Given the description of an element on the screen output the (x, y) to click on. 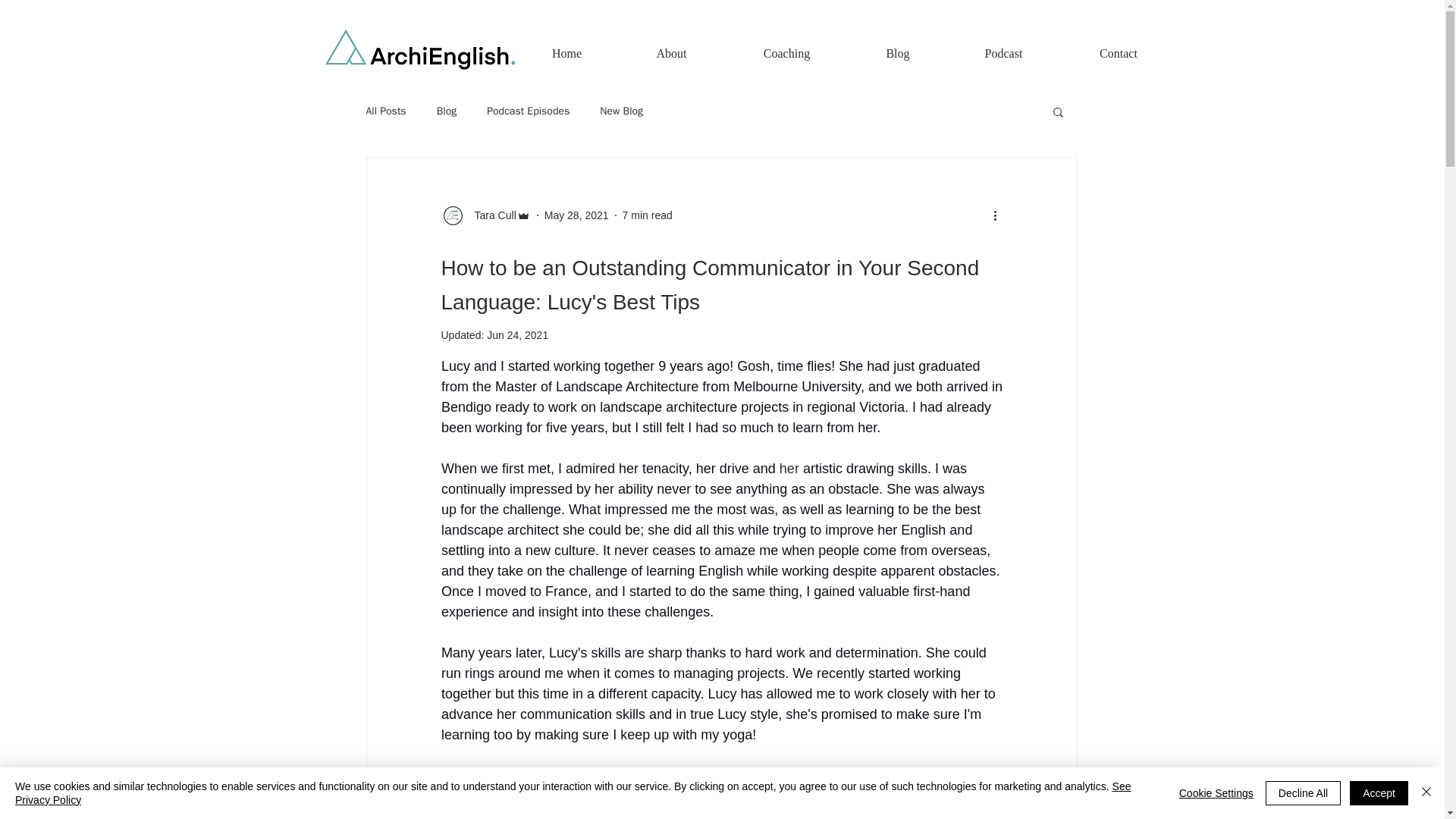
Contact (1118, 46)
About (670, 46)
Podcast (1003, 46)
See Privacy Policy (572, 792)
7 min read (647, 215)
Decline All (1302, 793)
Blog (446, 110)
May 28, 2021 (576, 215)
Jun 24, 2021 (517, 335)
Tara Cull (490, 215)
